Given the description of an element on the screen output the (x, y) to click on. 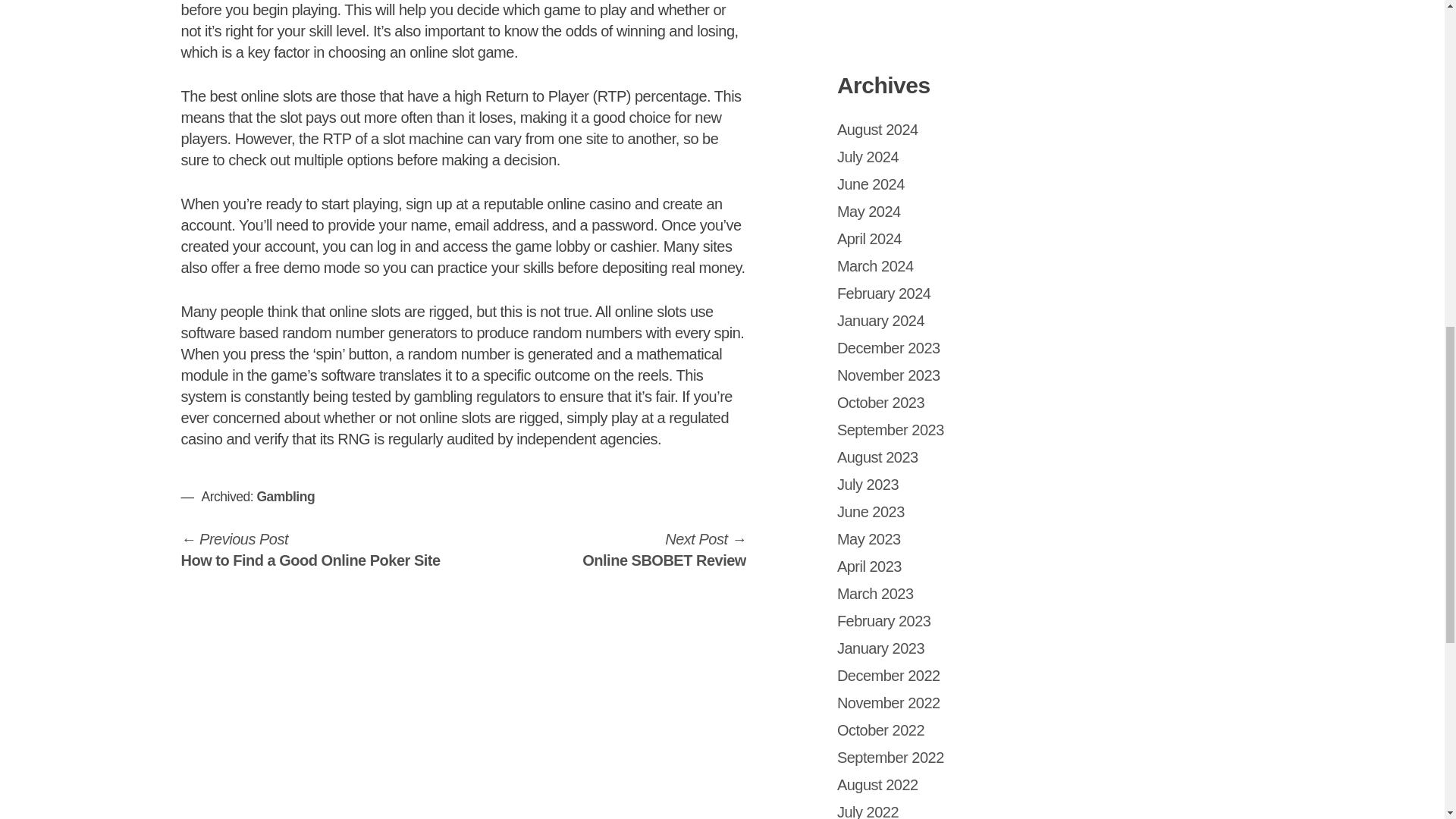
June 2024 (663, 549)
March 2024 (870, 184)
October 2023 (875, 265)
March 2023 (880, 402)
July 2023 (875, 593)
January 2024 (867, 484)
April 2024 (880, 320)
November 2022 (869, 238)
February 2023 (888, 702)
